Given the description of an element on the screen output the (x, y) to click on. 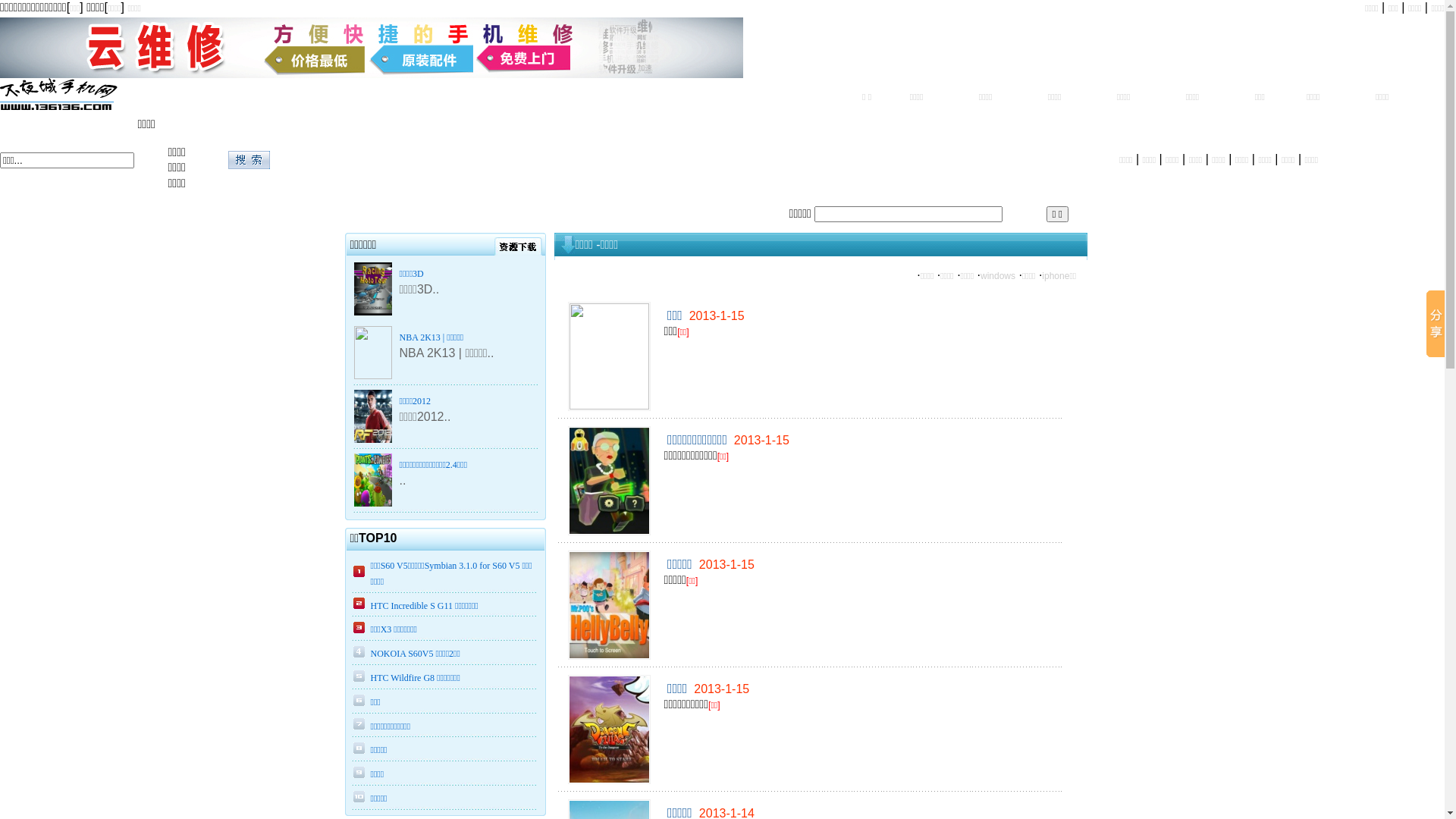
top1 Element type: hover (371, 74)
windows Element type: text (997, 275)
